Given the description of an element on the screen output the (x, y) to click on. 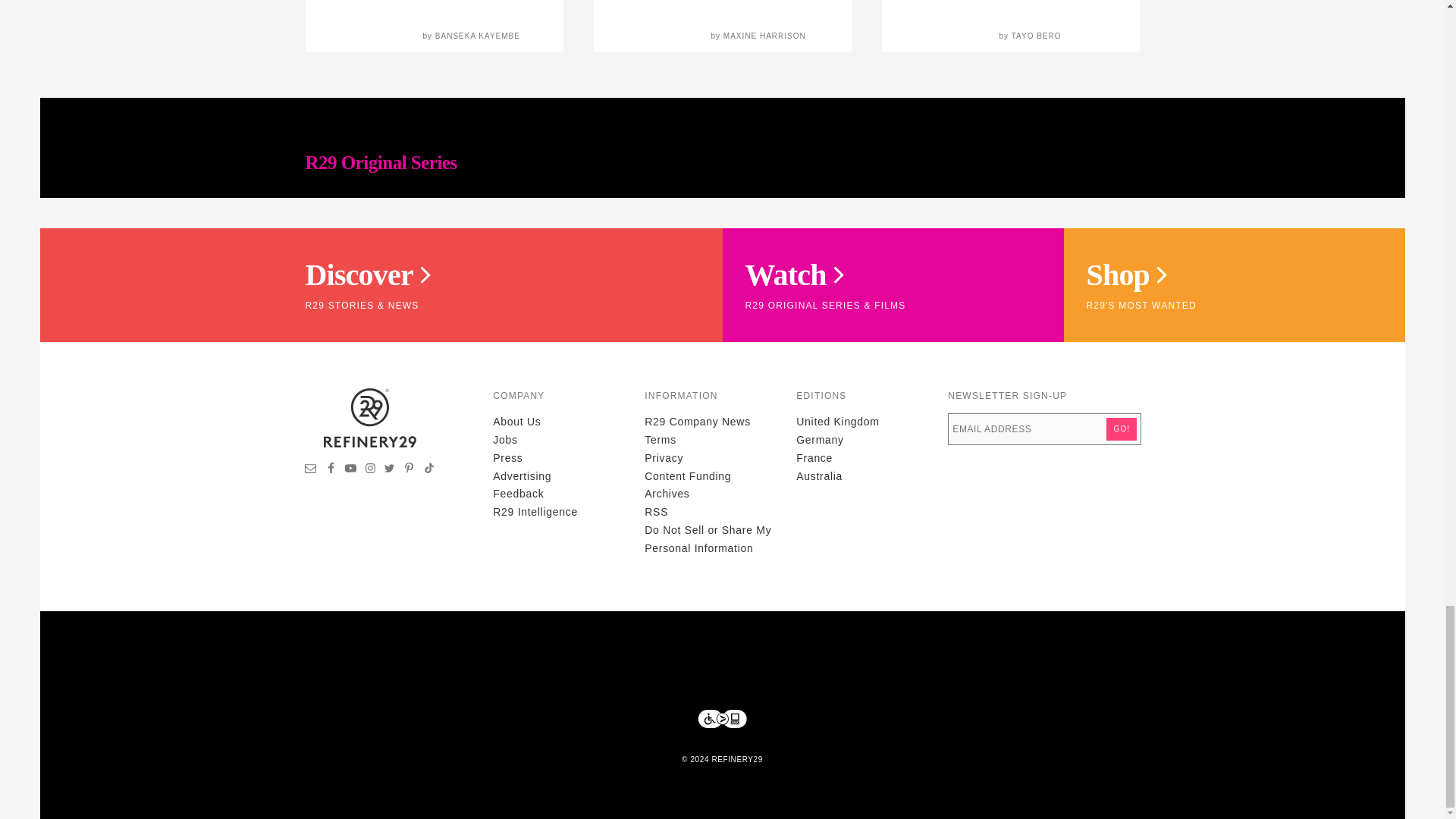
Visit Refinery29 on YouTube (350, 469)
Visit Refinery29 on TikTok (428, 469)
Sign up for newsletters (310, 469)
